Given the description of an element on the screen output the (x, y) to click on. 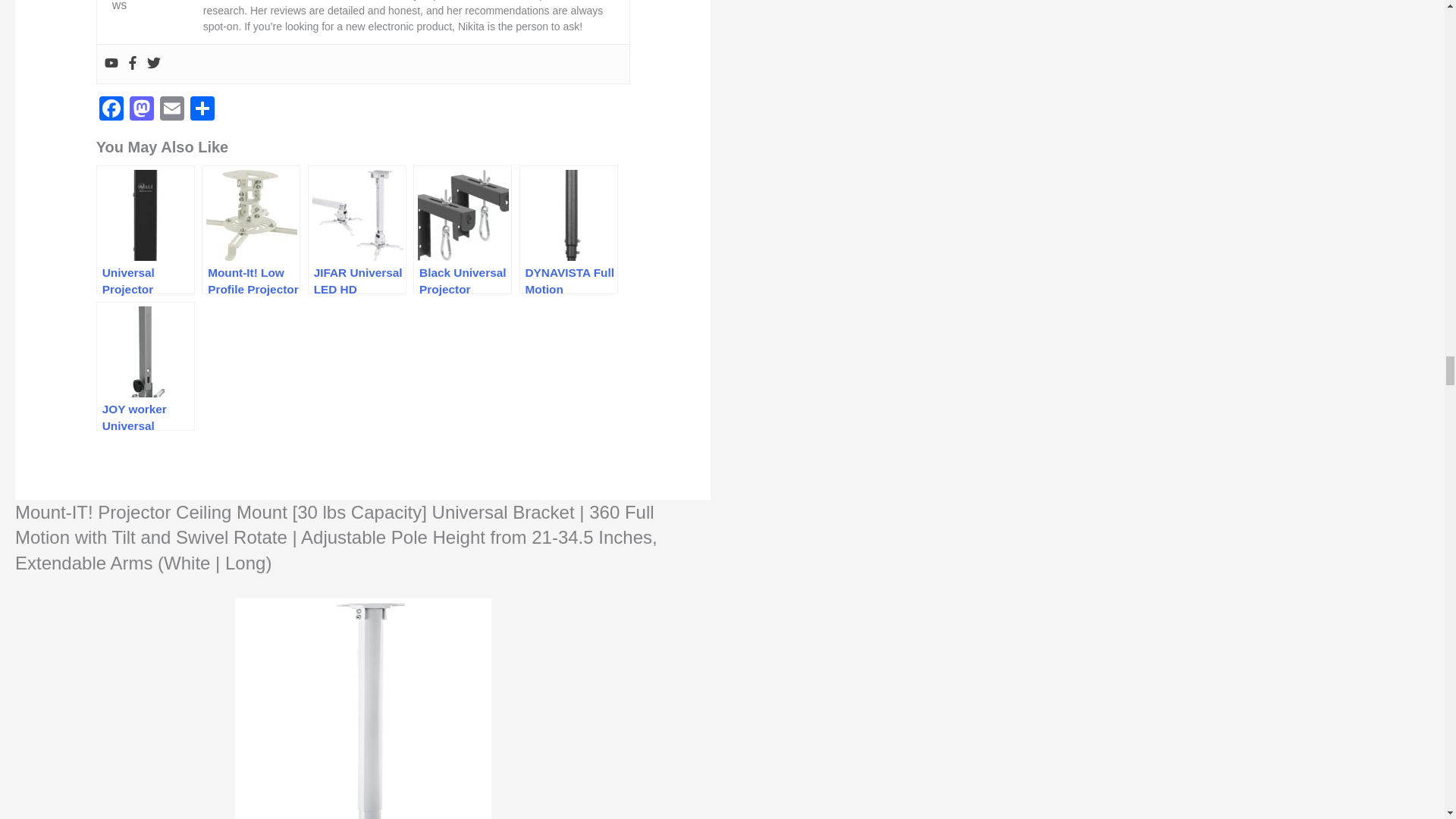
Email (172, 110)
Mastodon (141, 110)
Facebook (111, 110)
Facebook (111, 110)
Email (172, 110)
Mastodon (141, 110)
Share (201, 110)
